Given the description of an element on the screen output the (x, y) to click on. 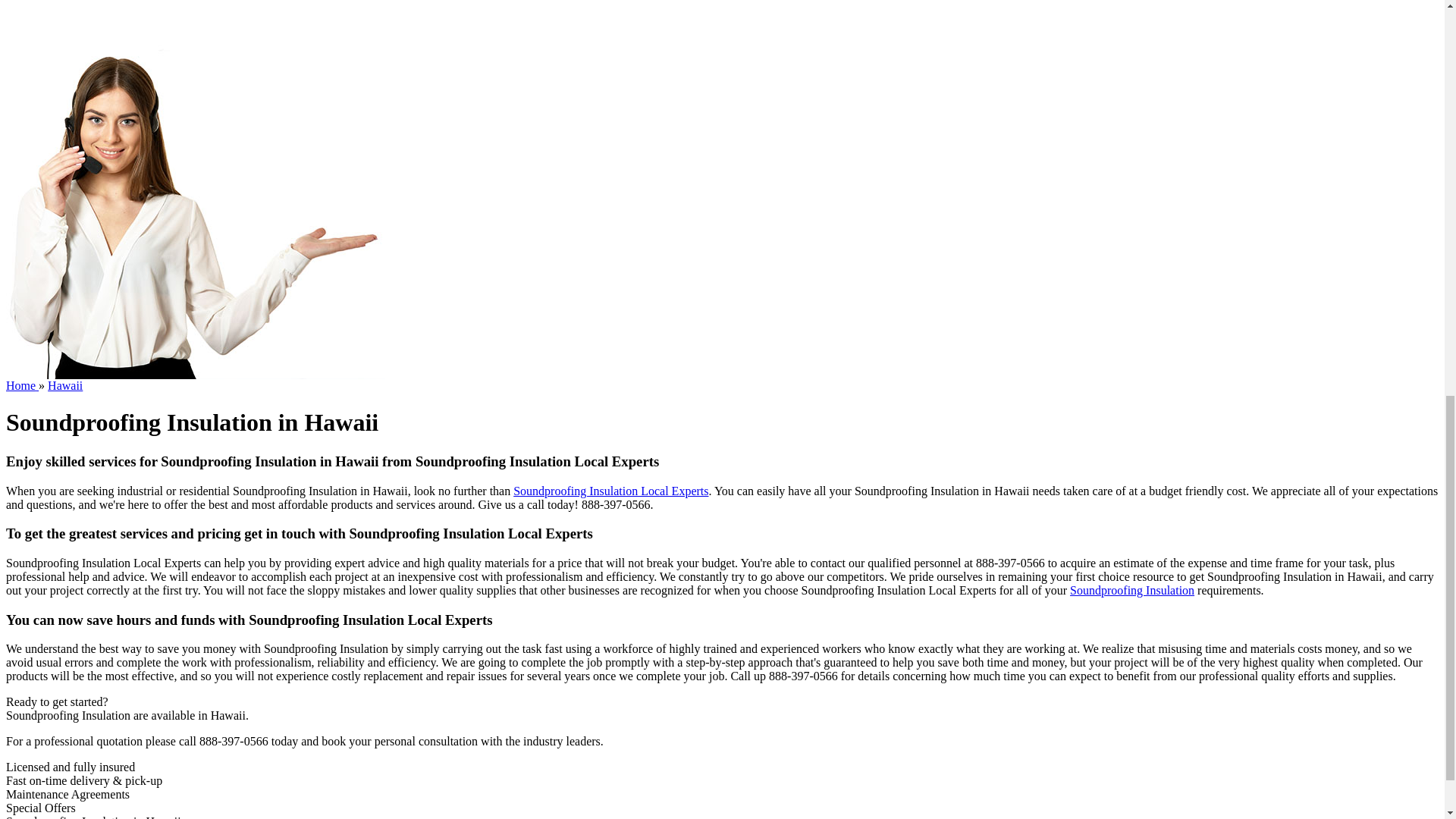
Soundproofing Insulation Local Experts (610, 490)
Soundproofing Insulation (1131, 590)
Hawaii (65, 385)
Home (22, 385)
